Given the description of an element on the screen output the (x, y) to click on. 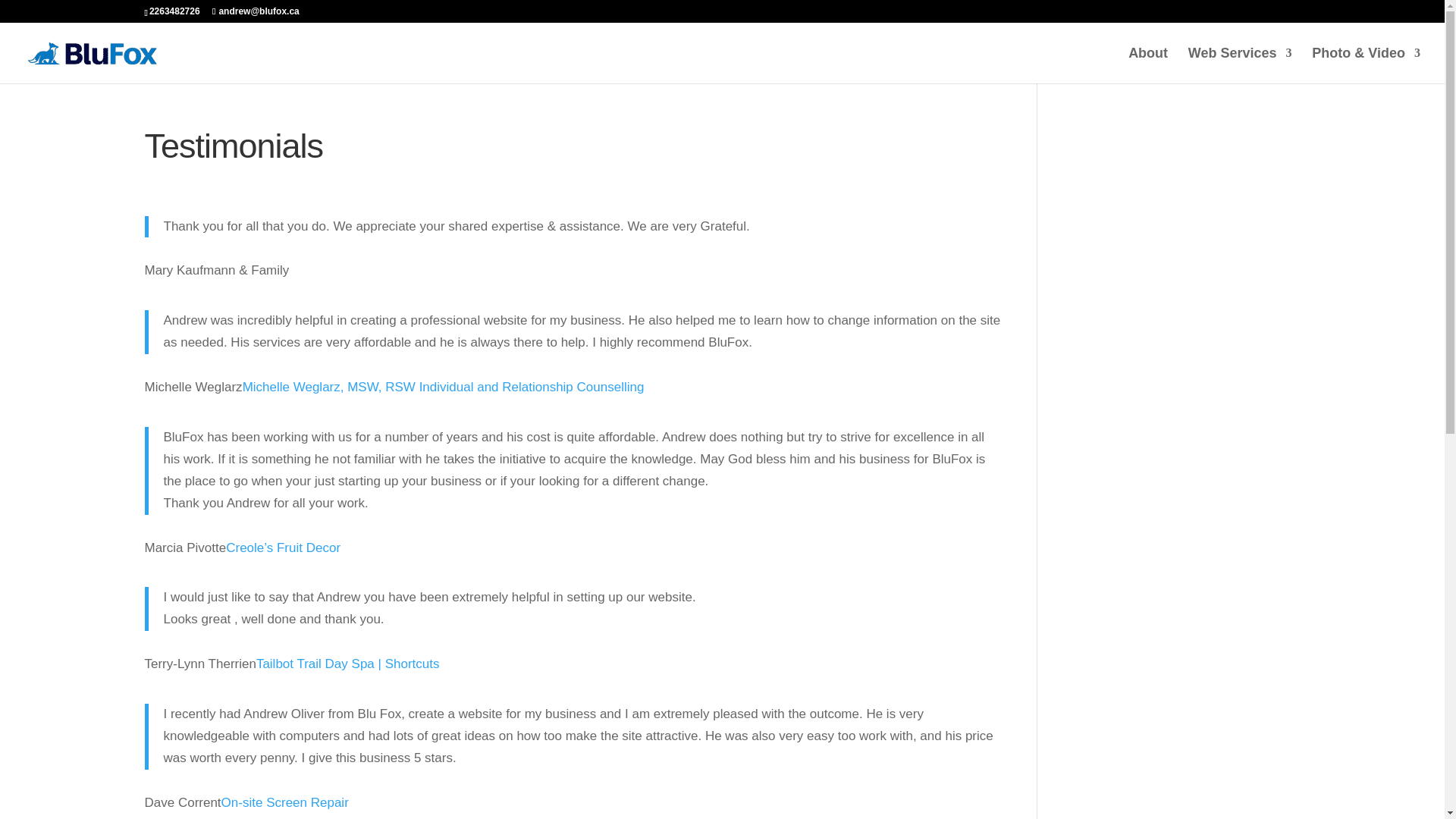
Web Services (1240, 65)
About (1147, 65)
On-site Screen Repair (285, 802)
